Given the description of an element on the screen output the (x, y) to click on. 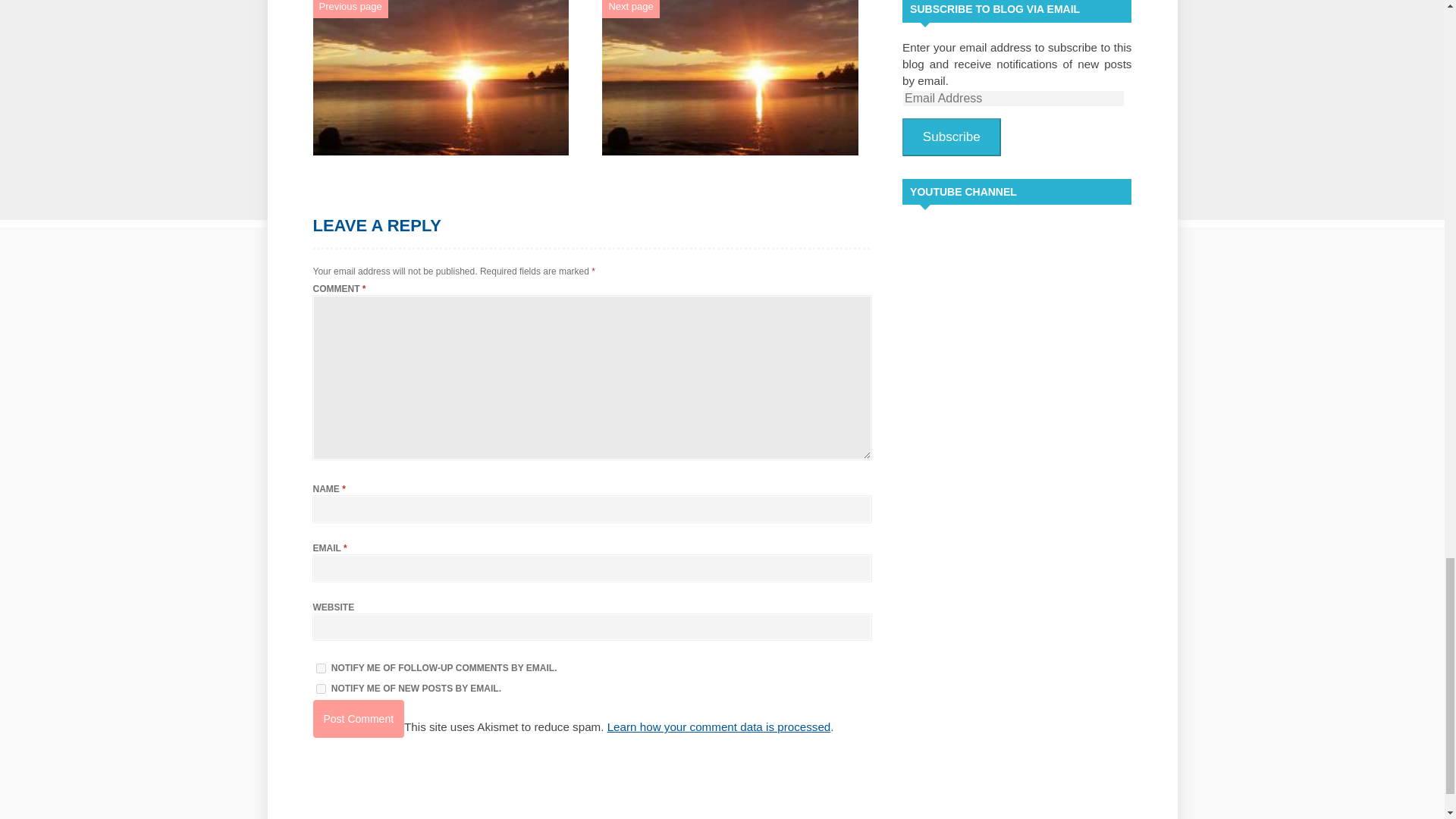
Learn how your comment data is processed (719, 726)
subscribe (319, 668)
Next page (630, 6)
Post Comment (358, 718)
Previous page (349, 6)
Post Comment (358, 718)
subscribe (319, 688)
